Given the description of an element on the screen output the (x, y) to click on. 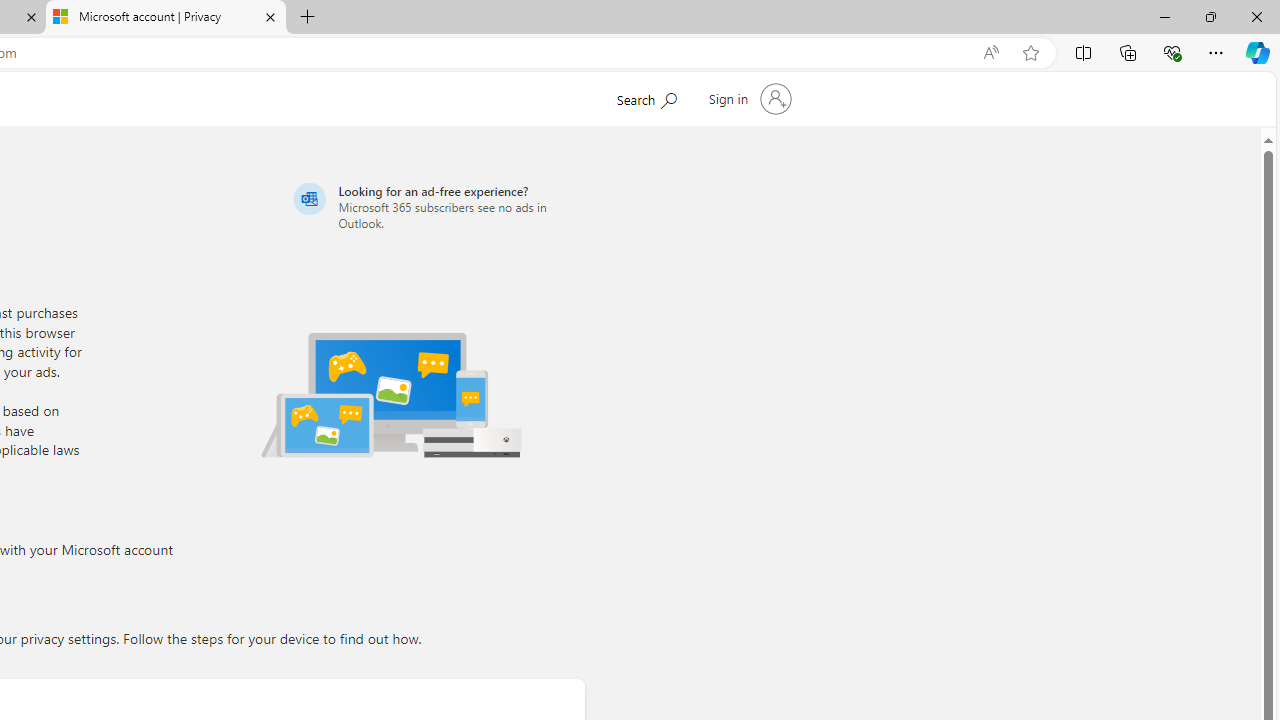
Close (1256, 16)
Restore (1210, 16)
